Given the description of an element on the screen output the (x, y) to click on. 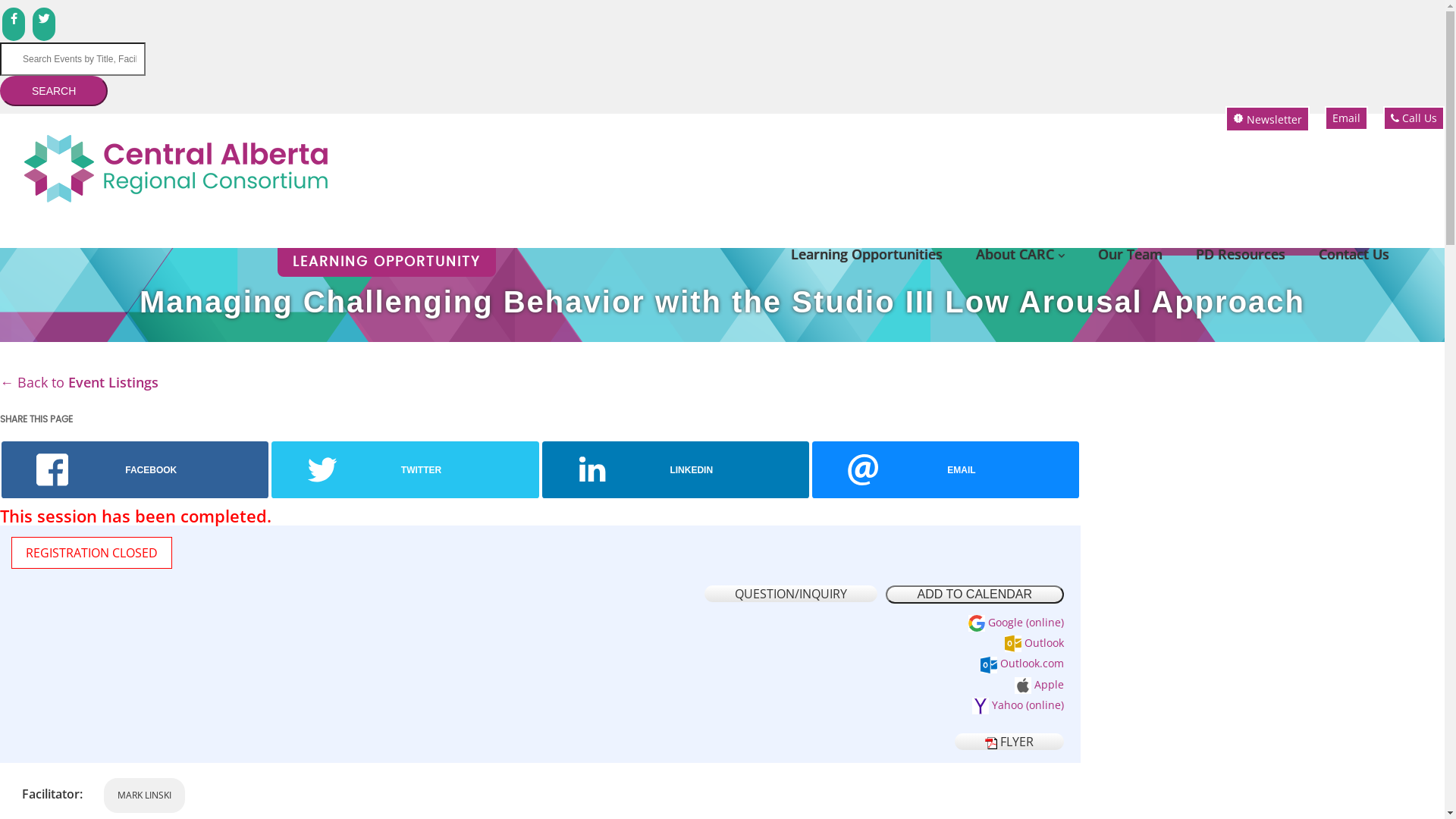
Yahoo (online) Element type: text (1016, 704)
Facebook Element type: hover (13, 23)
Apple Element type: text (1037, 684)
ADD TO CALENDAR Element type: text (974, 594)
Email Element type: text (1346, 118)
Contact Us Element type: text (1353, 253)
FACEBOOK Element type: text (134, 469)
EMAIL Element type: text (945, 469)
Outlook Element type: text (1032, 642)
Search Element type: text (53, 90)
Google (online) Element type: text (1014, 622)
MARK LINSKI Element type: text (144, 795)
FLYER Element type: text (1008, 741)
LINKEDIN Element type: text (674, 469)
TWITTER Element type: text (404, 469)
QUESTION/INQUIRY Element type: text (790, 593)
Learning Opportunities Element type: text (866, 253)
Call Us Element type: text (1413, 118)
search Element type: hover (10, 50)
Our Team Element type: text (1129, 253)
Outlook.com Element type: text (1020, 662)
PD Resources Element type: text (1240, 253)
new_releases Newsletter Element type: text (1267, 118)
About CARC Element type: text (1019, 253)
Twitter Element type: hover (43, 23)
